Given the description of an element on the screen output the (x, y) to click on. 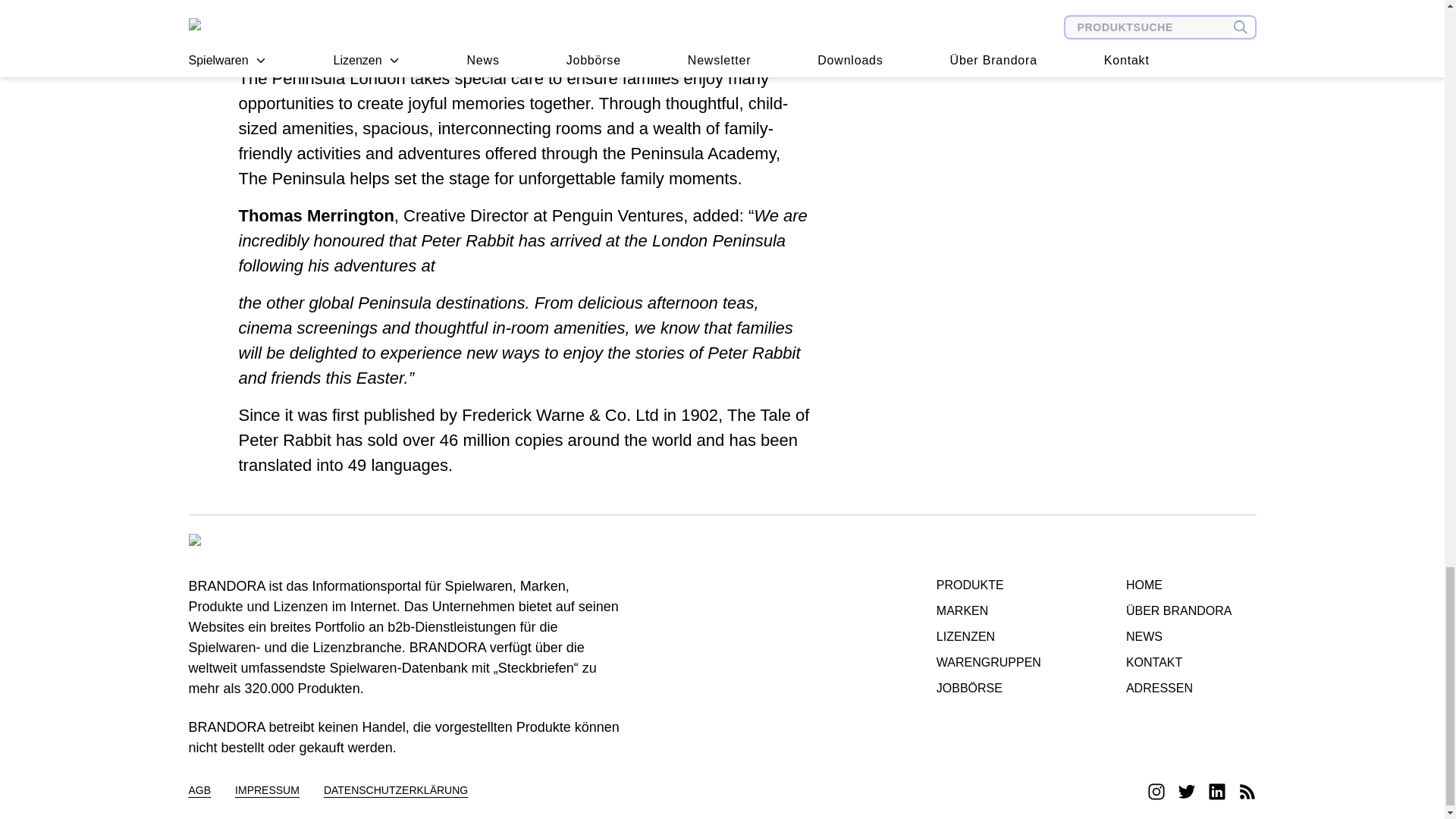
AGB (199, 791)
KONTAKT (1178, 662)
LIZENZEN (988, 637)
HOME (1178, 585)
ADRESSEN (1178, 688)
MARKEN (988, 610)
PRODUKTE (988, 585)
NEWS (1178, 637)
IMPRESSUM (266, 791)
WARENGRUPPEN (988, 662)
